Given the description of an element on the screen output the (x, y) to click on. 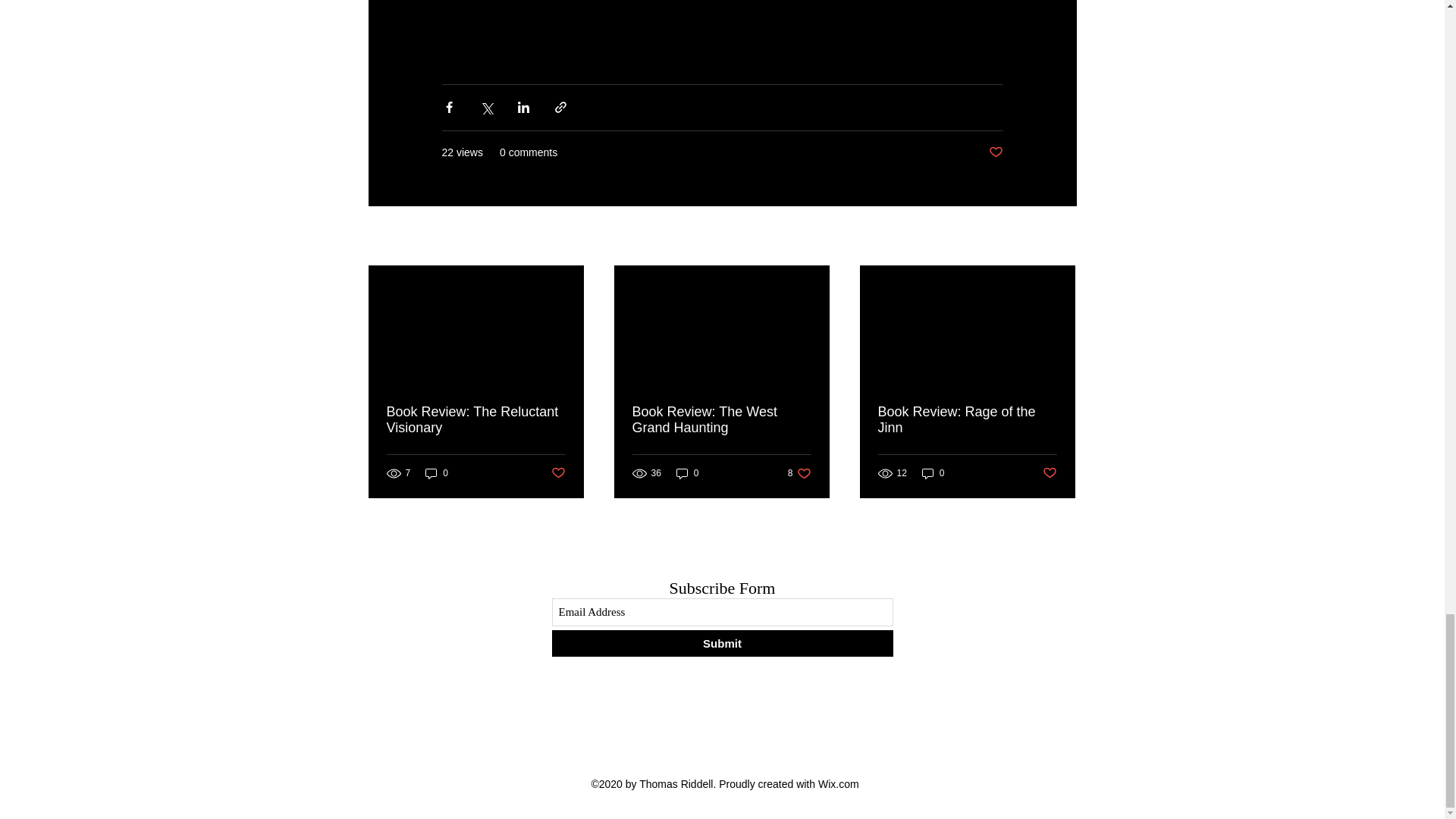
Post not marked as liked (557, 473)
Post not marked as liked (995, 152)
Submit (722, 642)
Book Review: The West Grand Haunting (720, 419)
Book Review: The Reluctant Visionary (476, 419)
See All (798, 473)
Book Review: Rage of the Jinn (1061, 237)
0 (967, 419)
0 (436, 473)
0 (933, 473)
Post not marked as liked (687, 473)
